Given the description of an element on the screen output the (x, y) to click on. 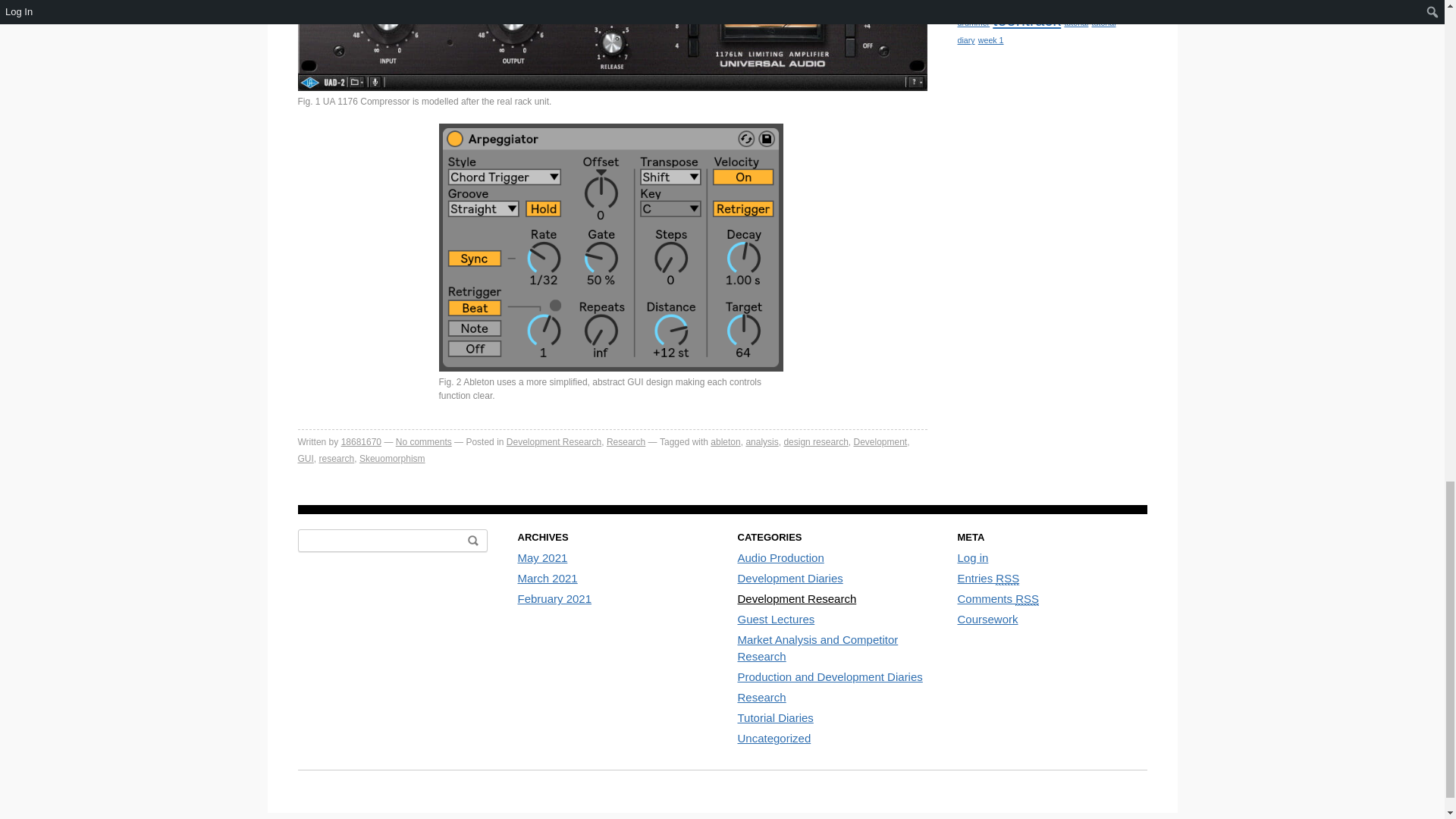
ableton (724, 441)
Research (626, 441)
Skeuomorphism (392, 458)
GUI (305, 458)
Syndicate this site using RSS 2.0 (987, 578)
18681670 (360, 441)
Development (880, 441)
Development Research (553, 441)
No comments (423, 441)
Powered by Coursework (986, 618)
